Given the description of an element on the screen output the (x, y) to click on. 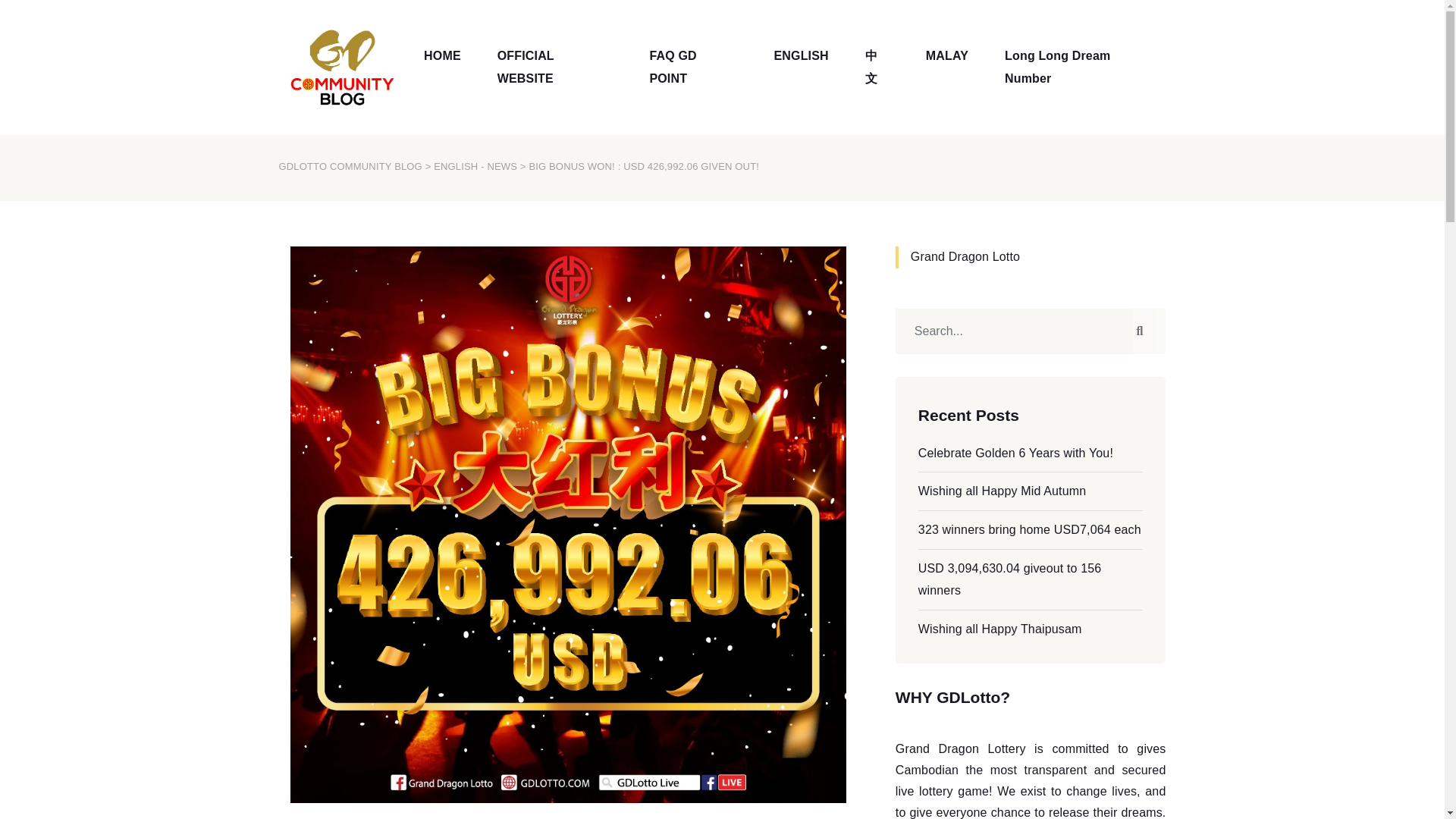
OFFICIAL WEBSITE (556, 66)
USD 3,094,630.04 giveout to 156 winners (1010, 579)
Wishing all Happy Mid Autumn (1002, 490)
FAQ GD POINT (692, 66)
GDLOTTO COMMUNITY BLOG (350, 165)
Celebrate Golden 6 Years with You! (1015, 452)
ENGLISH (800, 55)
Wishing all Happy Thaipusam (999, 628)
NEWS (501, 165)
Long Long Dream Number (1082, 66)
Long Long Dream Number (1082, 66)
ENGLISH (800, 55)
Grand Dragon Lotto (965, 256)
ENGLISH (455, 165)
FAQ GD POINT (692, 66)
